Given the description of an element on the screen output the (x, y) to click on. 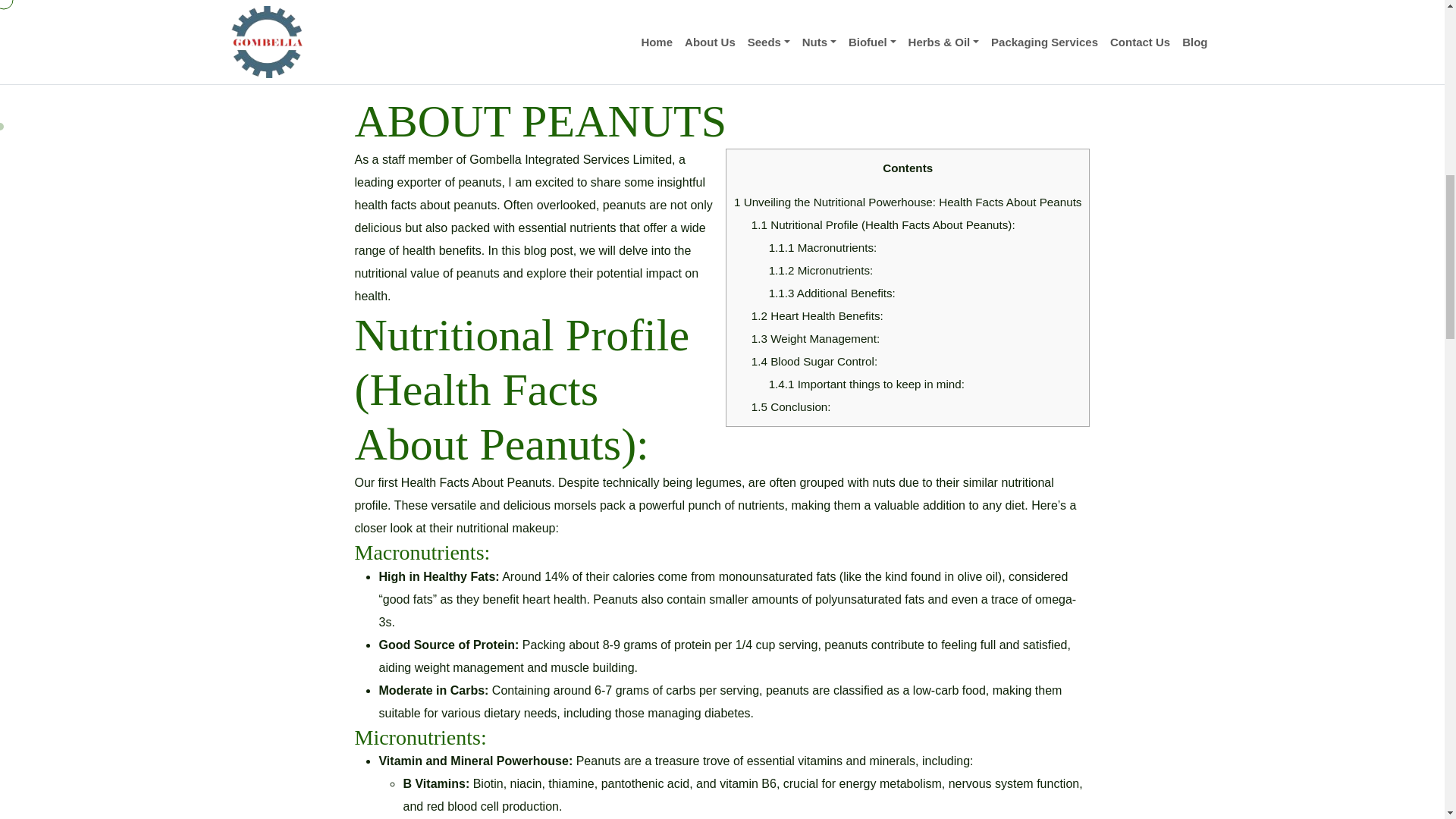
1.1.3 Additional Benefits: (831, 292)
1.4.1 Important things to keep in mind: (865, 383)
1.3 Weight Management: (815, 338)
1.1.2 Micronutrients: (820, 269)
1.2 Heart Health Benefits: (817, 315)
1.4 Blood Sugar Control: (814, 360)
1.5 Conclusion: (791, 406)
leading exporter of peanuts (426, 182)
1.1.1 Macronutrients: (822, 246)
